Given the description of an element on the screen output the (x, y) to click on. 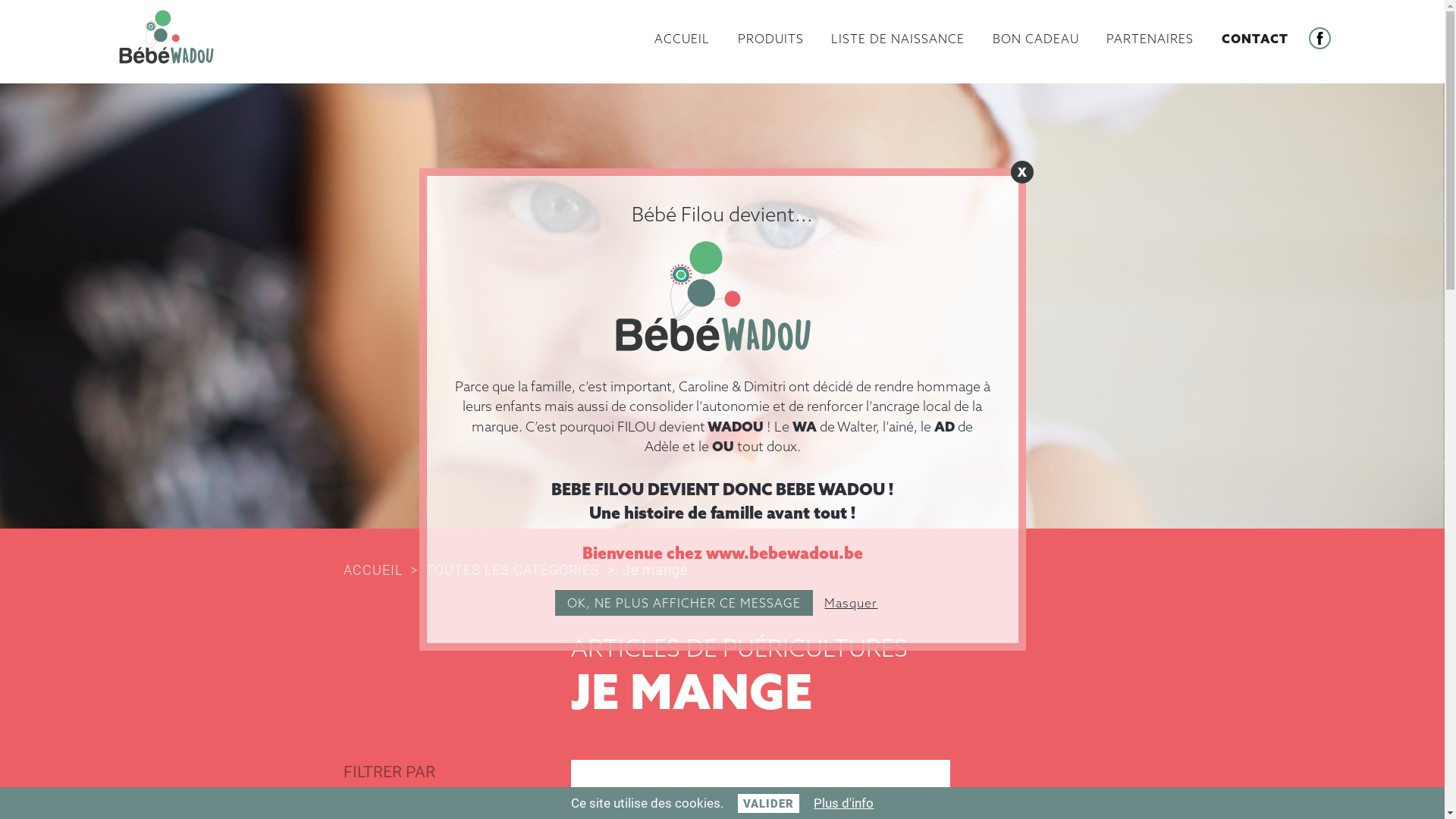
PARTENAIRES Element type: text (1149, 39)
Plus d'info Element type: text (843, 802)
ACCUEIL Element type: text (681, 39)
X Element type: text (1021, 171)
CONTACT Element type: text (1254, 39)
OK, NE PLUS AFFICHER CE MESSAGE Element type: text (683, 602)
FACEBOOK Element type: text (1319, 37)
LISTE DE NAISSANCE Element type: text (897, 39)
ACCUEIL Element type: text (381, 569)
VALIDER Element type: text (768, 802)
Masquer Element type: text (851, 602)
PRODUITS Element type: text (770, 39)
BON CADEAU Element type: text (1035, 39)
